Given the description of an element on the screen output the (x, y) to click on. 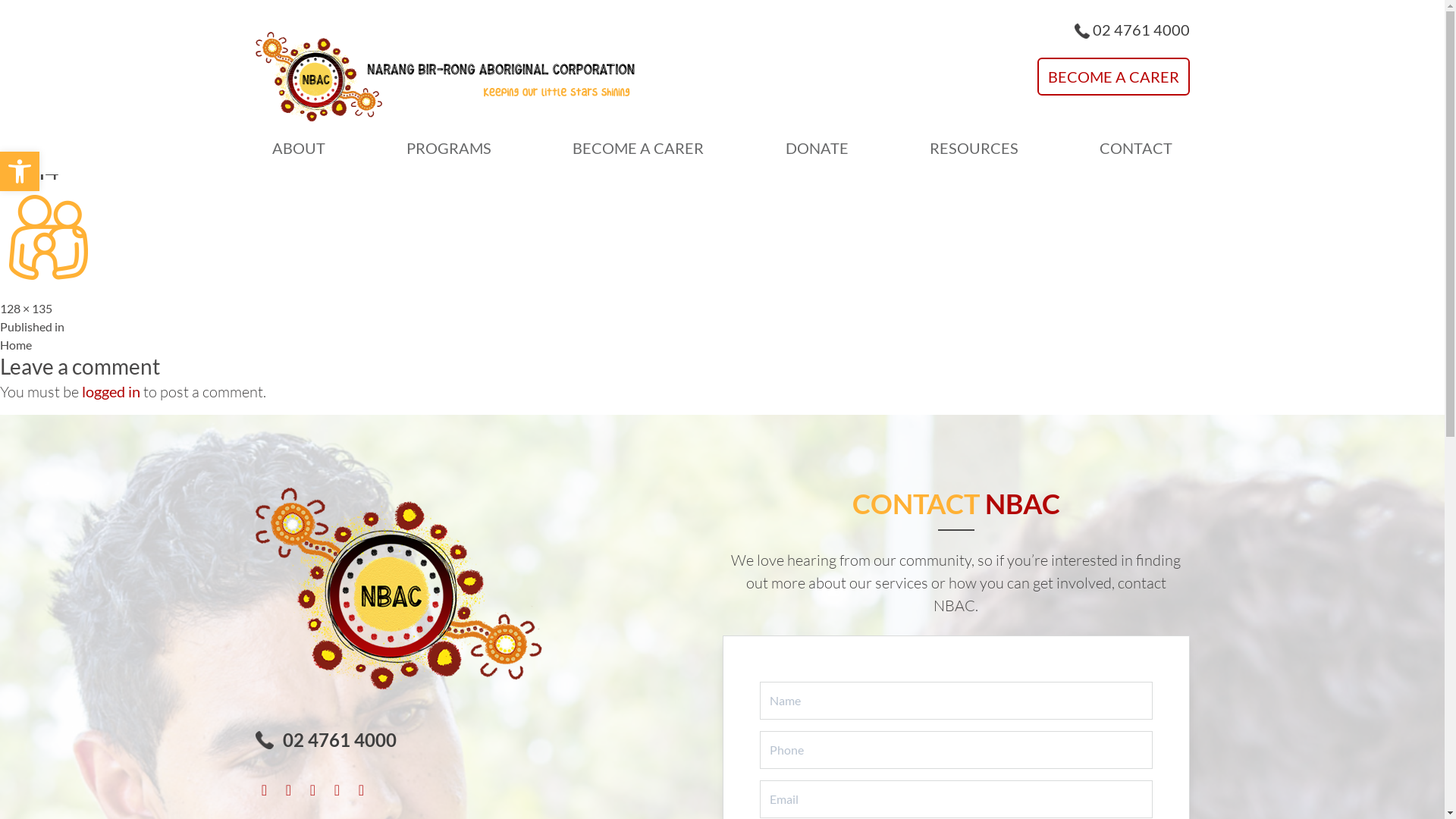
PROGRAMS Element type: text (448, 147)
BECOME A CARER Element type: text (1113, 76)
RESOURCES Element type: text (974, 147)
DONATE Element type: text (816, 147)
02 4761 4000 Element type: text (338, 739)
Published in
Home Element type: text (32, 335)
Open toolbar Element type: text (19, 171)
logged in Element type: text (110, 391)
ABOUT Element type: text (297, 147)
CONTACT Element type: text (1135, 147)
02 4761 4000 Element type: text (1140, 29)
BECOME A CARER Element type: text (637, 147)
